Given the description of an element on the screen output the (x, y) to click on. 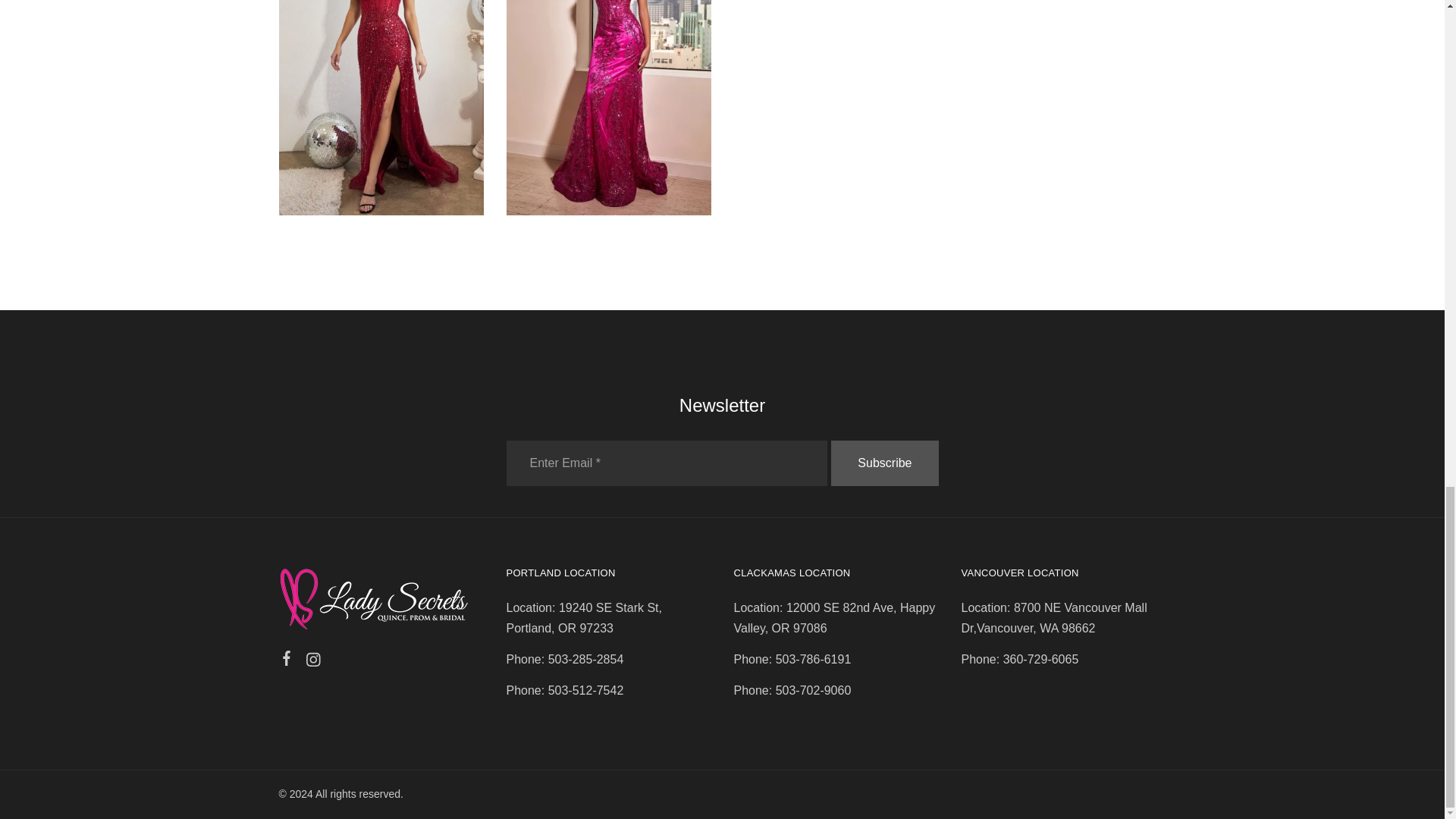
Facebook (286, 660)
Subscribe (884, 463)
Instagram (312, 661)
